Given the description of an element on the screen output the (x, y) to click on. 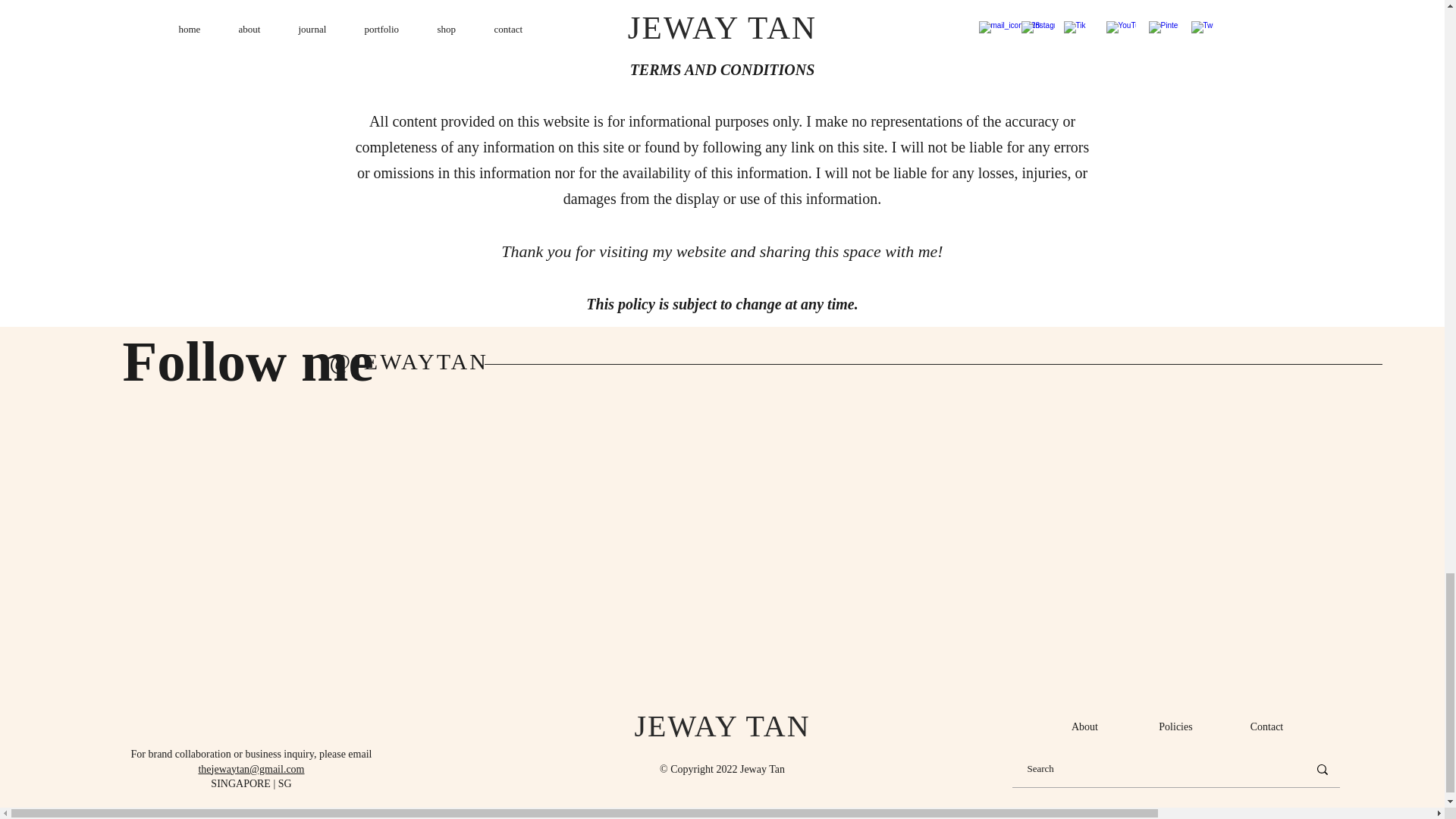
Contact (1266, 726)
Policies (1175, 726)
JEWAY TAN (721, 725)
About (1084, 726)
